Given the description of an element on the screen output the (x, y) to click on. 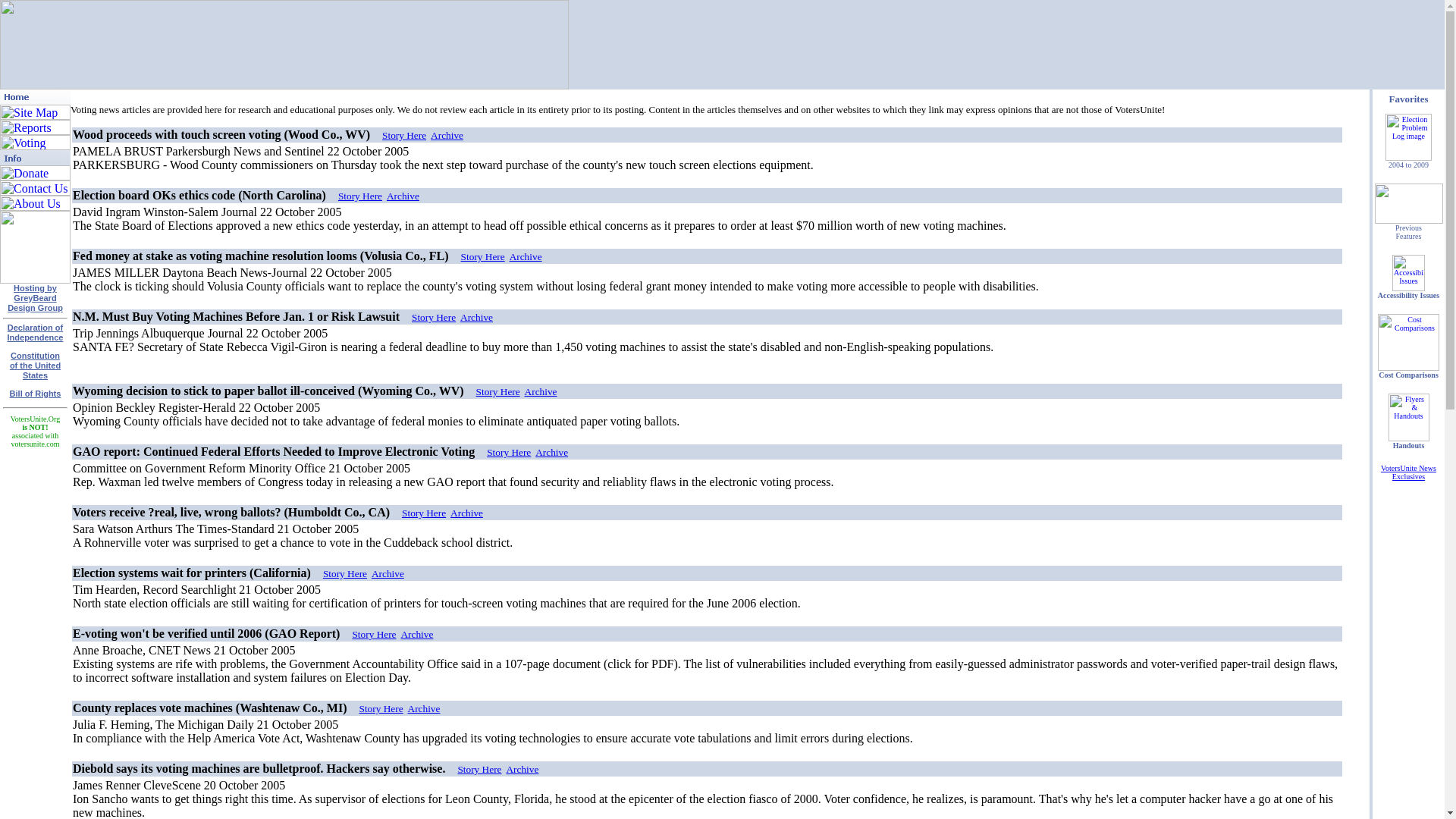
Story Here (423, 512)
Archive (466, 512)
Story Here (34, 297)
Archive (433, 317)
Archive (424, 708)
Story Here (476, 317)
Story Here (483, 256)
Archive (359, 195)
Story Here (416, 633)
Archive (344, 573)
Archive (35, 365)
Declaration of Independence (403, 195)
Archive (521, 768)
